Given the description of an element on the screen output the (x, y) to click on. 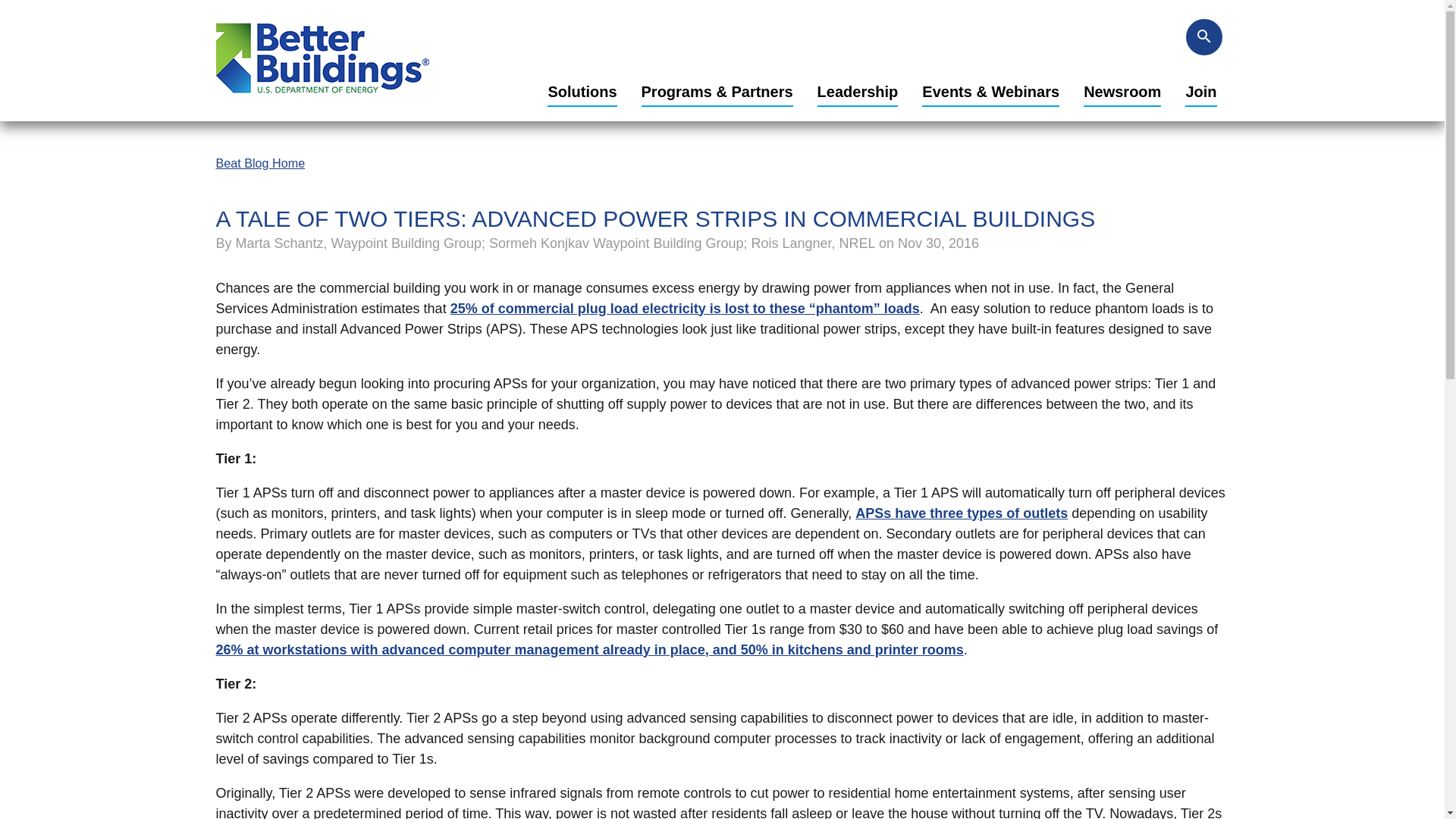
APSs have three types of outlets (961, 512)
Solutions (581, 92)
Leadership (857, 92)
Newsroom (1121, 92)
Home (321, 98)
Beat Blog Home (259, 162)
Join (1200, 92)
